Given the description of an element on the screen output the (x, y) to click on. 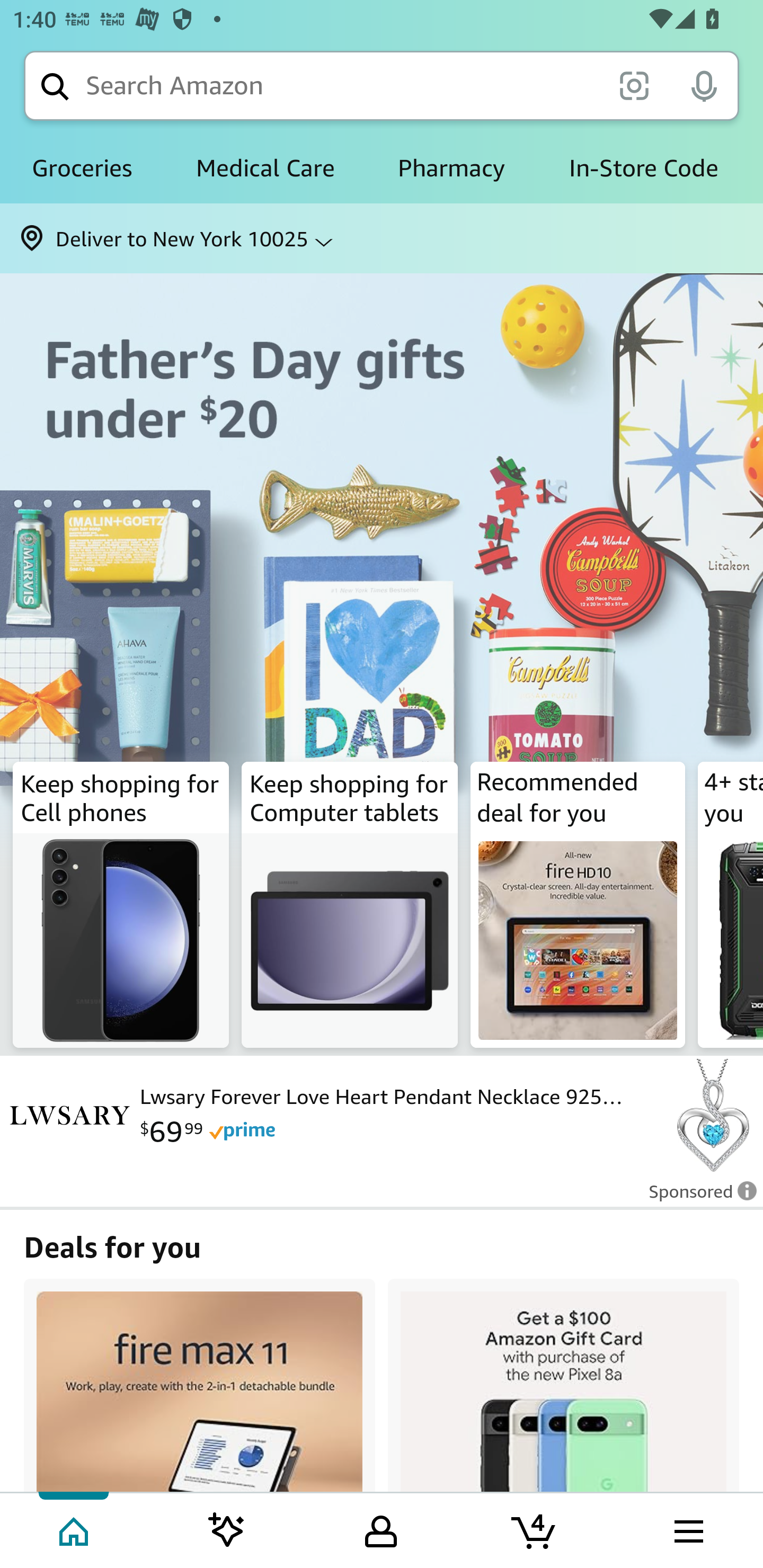
scan it (633, 85)
Groceries (82, 168)
Medical Care (265, 168)
Pharmacy (451, 168)
In-Store Code (643, 168)
Deliver to New York 10025 ⌵ (381, 237)
Father's Day gifts under $20 (381, 570)
Leave feedback on Sponsored ad Sponsored  (696, 1196)
Home Tab 1 of 5 (75, 1529)
Inspire feed Tab 2 of 5 (227, 1529)
Your Amazon.com Tab 3 of 5 (380, 1529)
Cart 4 items Tab 4 of 5 4 (534, 1529)
Browse menu Tab 5 of 5 (687, 1529)
